Given the description of an element on the screen output the (x, y) to click on. 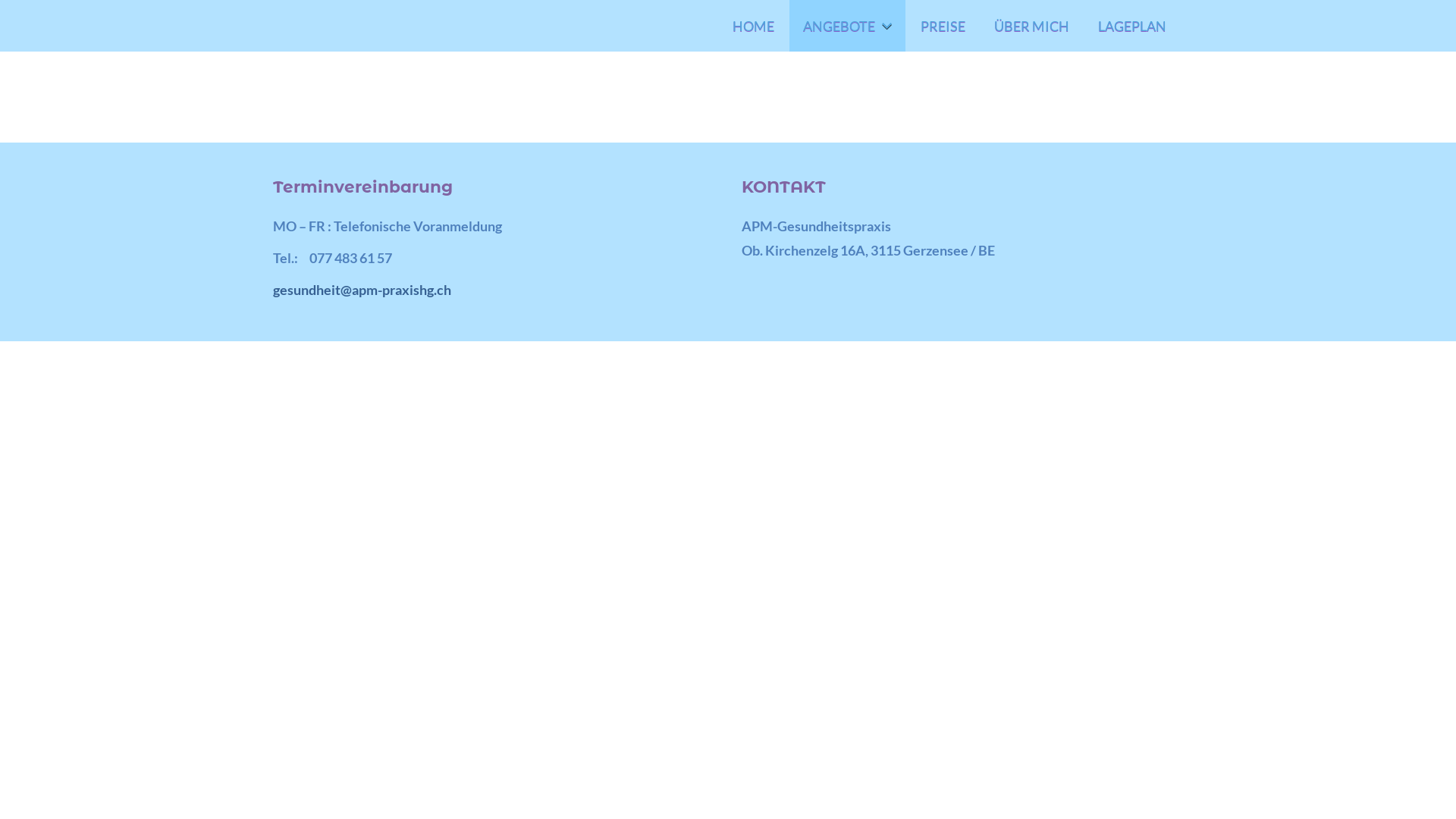
HOME Element type: text (752, 25)
LAGEPLAN Element type: text (1131, 25)
PREISE Element type: text (942, 25)
